Given the description of an element on the screen output the (x, y) to click on. 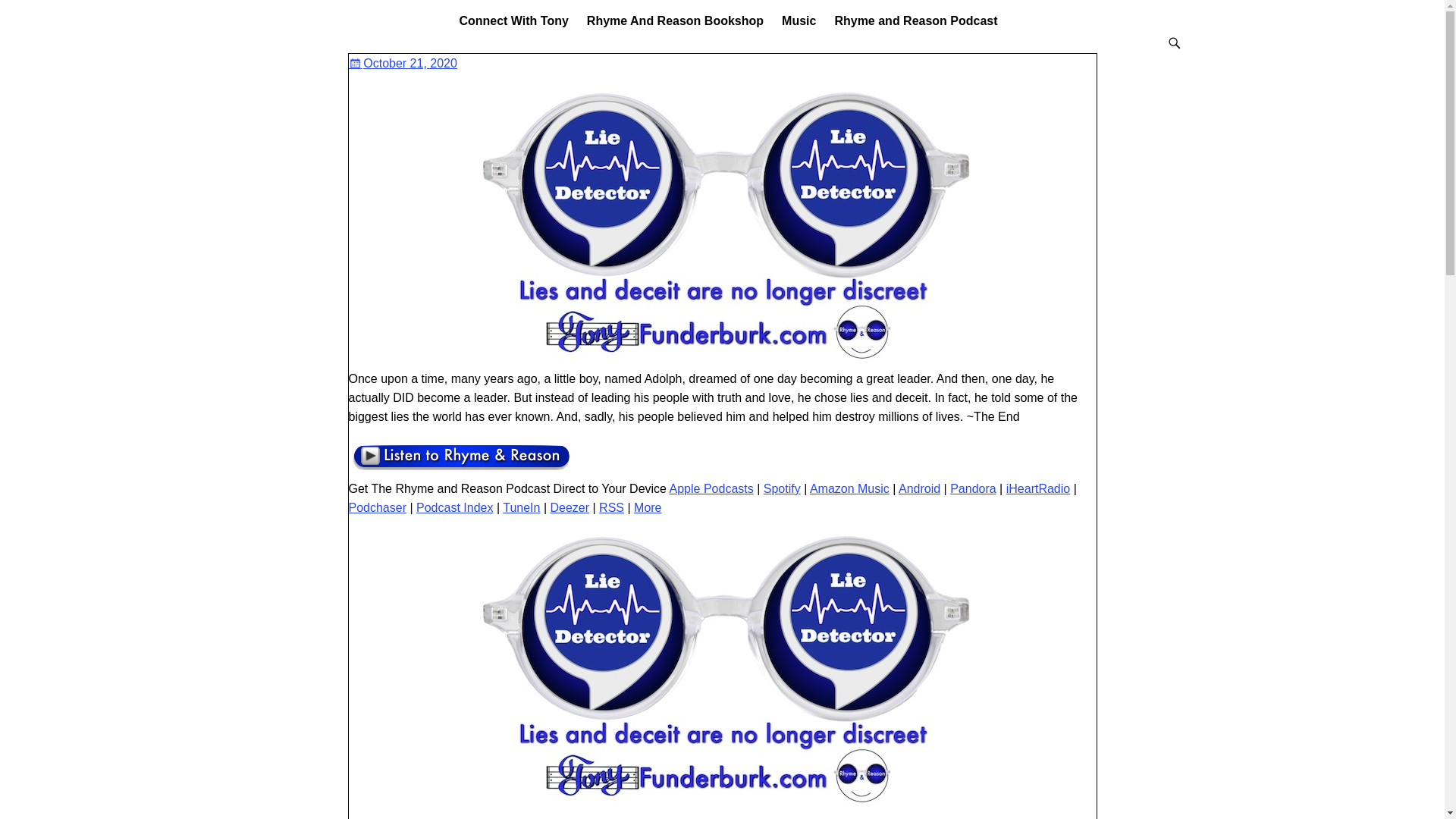
Subscribe on Amazon Music (849, 488)
Subscribe on Apple Podcasts (711, 488)
Subscribe on Podchaser (378, 507)
Play (461, 469)
Subscribe on Deezer (569, 507)
iHeartRadio (1038, 488)
More (647, 507)
Podchaser (378, 507)
Play (461, 456)
TuneIn (521, 507)
